Given the description of an element on the screen output the (x, y) to click on. 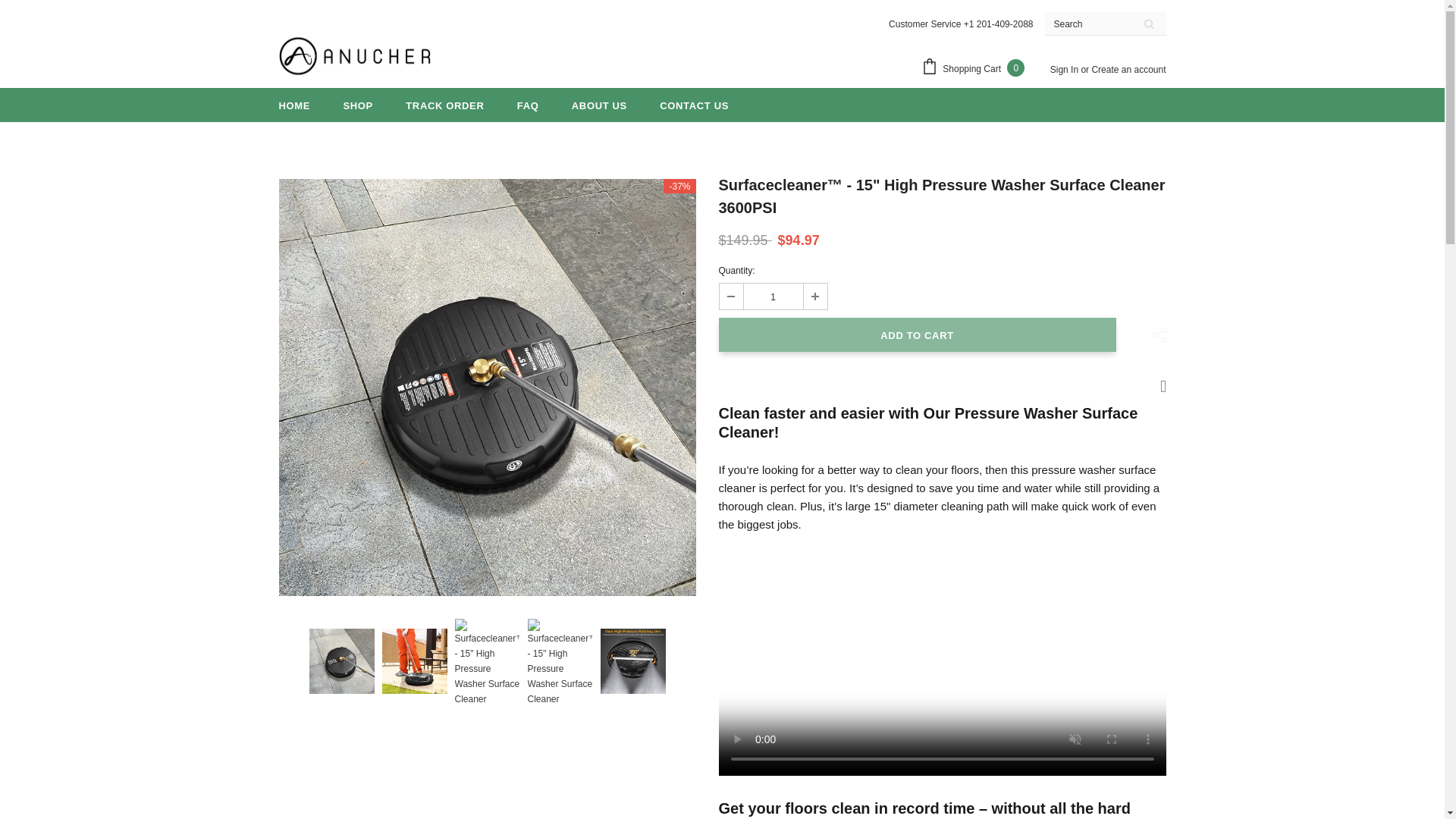
HOME (295, 104)
Shopping Cart 0 (976, 68)
ABOUT US (599, 104)
TRACK ORDER (444, 104)
Add to cart (917, 334)
Create an account (1128, 69)
1 (772, 296)
Sign In (1065, 69)
CONTACT US (694, 104)
